Given the description of an element on the screen output the (x, y) to click on. 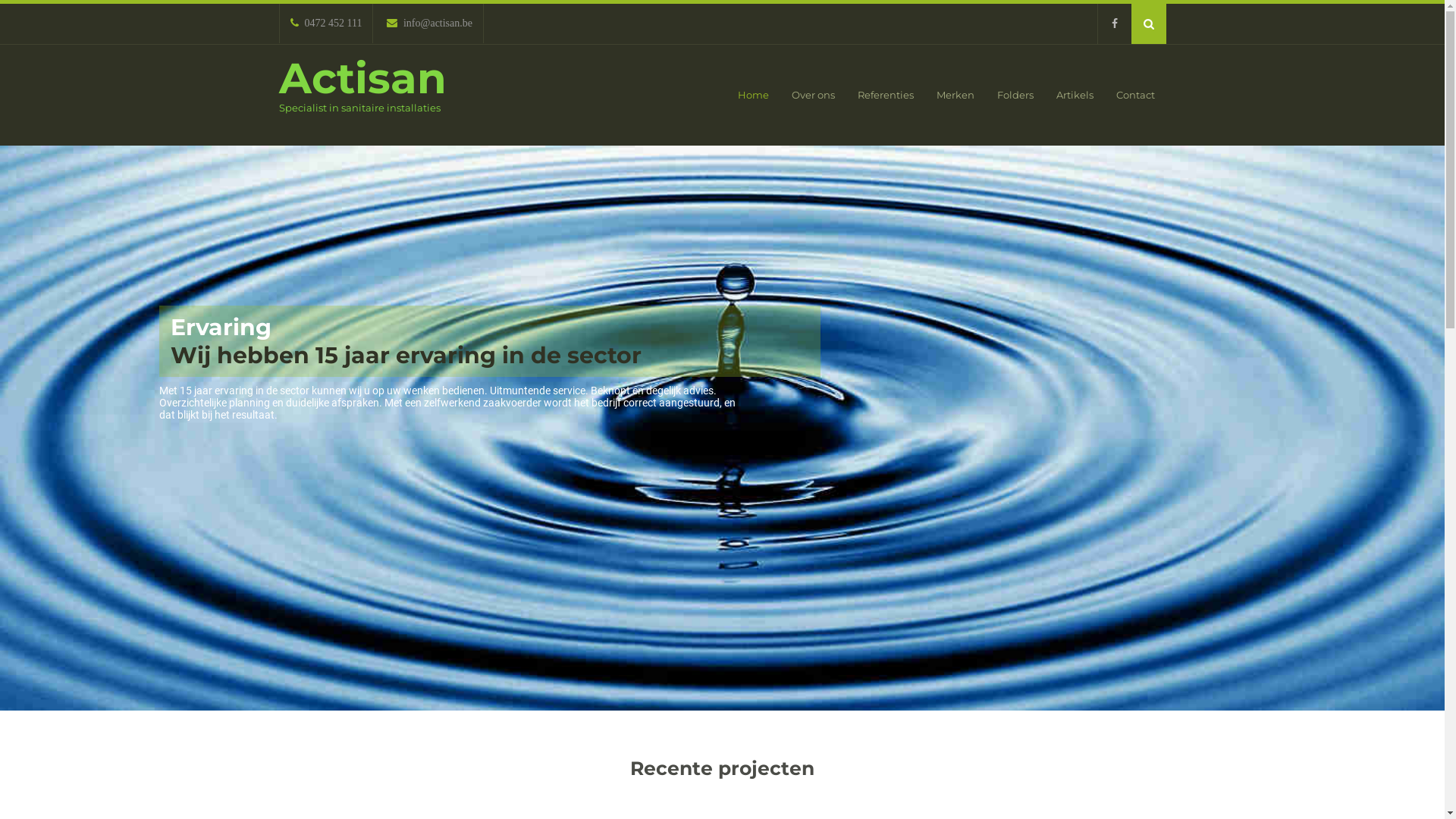
Over ons Element type: text (812, 94)
Folders Element type: text (1014, 94)
Actisan Element type: text (362, 77)
Merken Element type: text (955, 94)
info@actisan.be Element type: text (429, 22)
Referenties Element type: text (885, 94)
Artikels Element type: text (1074, 94)
Contact Element type: text (1134, 94)
facebook Element type: hover (1113, 23)
Home Element type: text (753, 94)
